Given the description of an element on the screen output the (x, y) to click on. 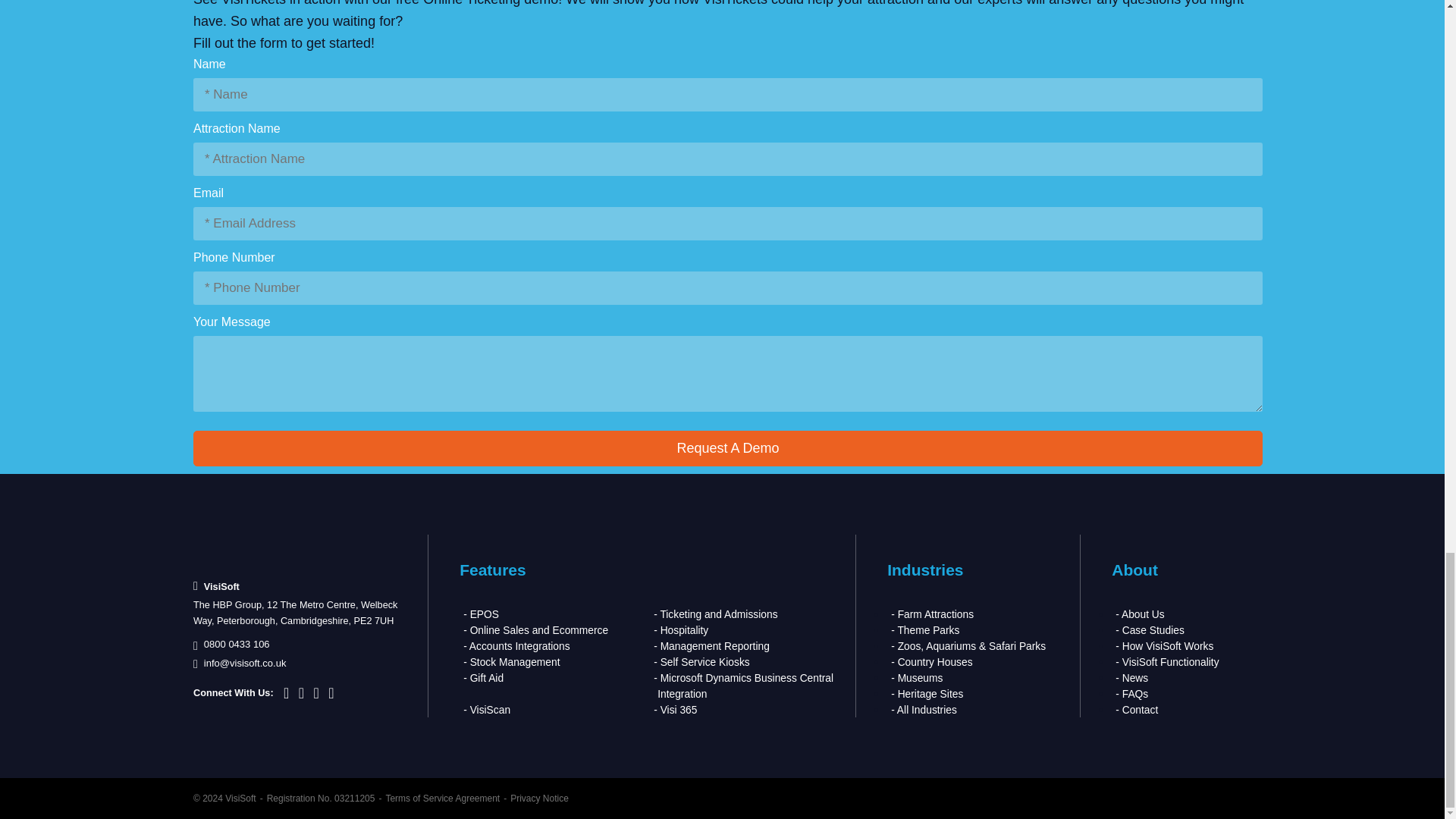
Website by Laser Red (1216, 799)
